Given the description of an element on the screen output the (x, y) to click on. 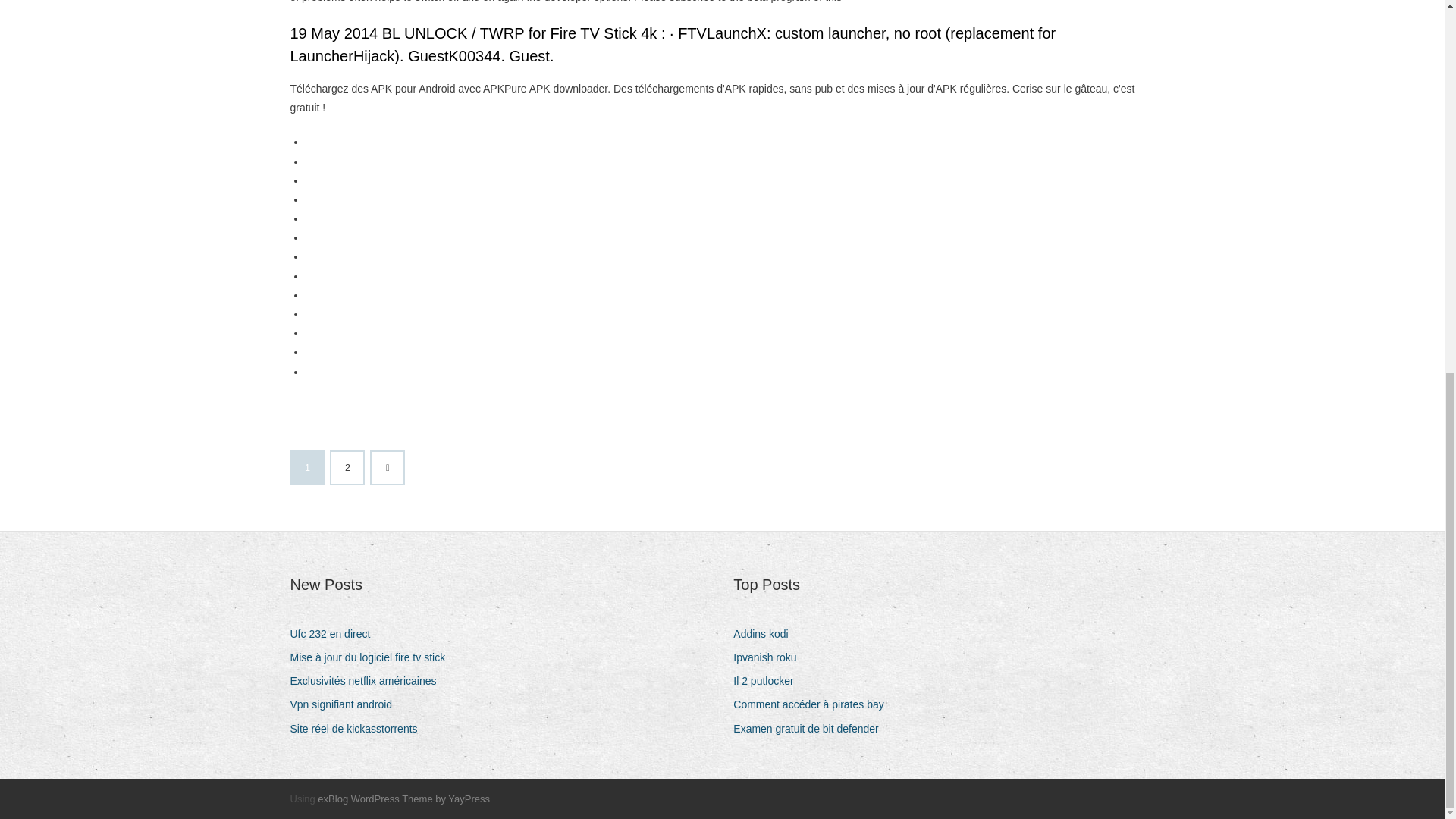
Vpn signifiant android (346, 704)
exBlog WordPress Theme by YayPress (403, 798)
2 (346, 468)
Il 2 putlocker (769, 680)
Addins kodi (766, 634)
Examen gratuit de bit defender (811, 729)
Ipvanish roku (770, 657)
Ufc 232 en direct (335, 634)
